Given the description of an element on the screen output the (x, y) to click on. 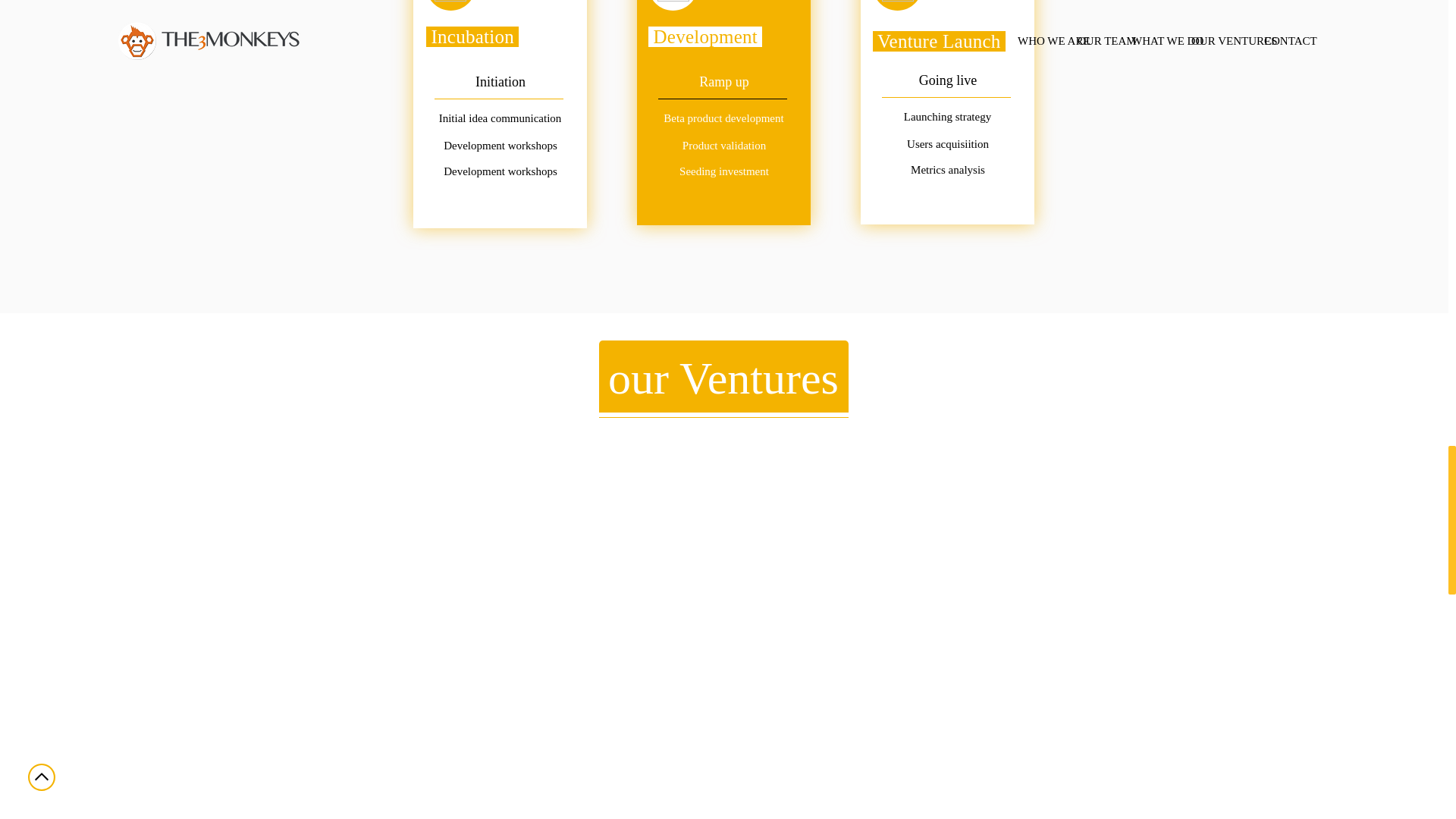
icons8-rocket-64.png (898, 0)
icons8-settings-64.png (673, 0)
icons8-box-64.png (449, 0)
